Given the description of an element on the screen output the (x, y) to click on. 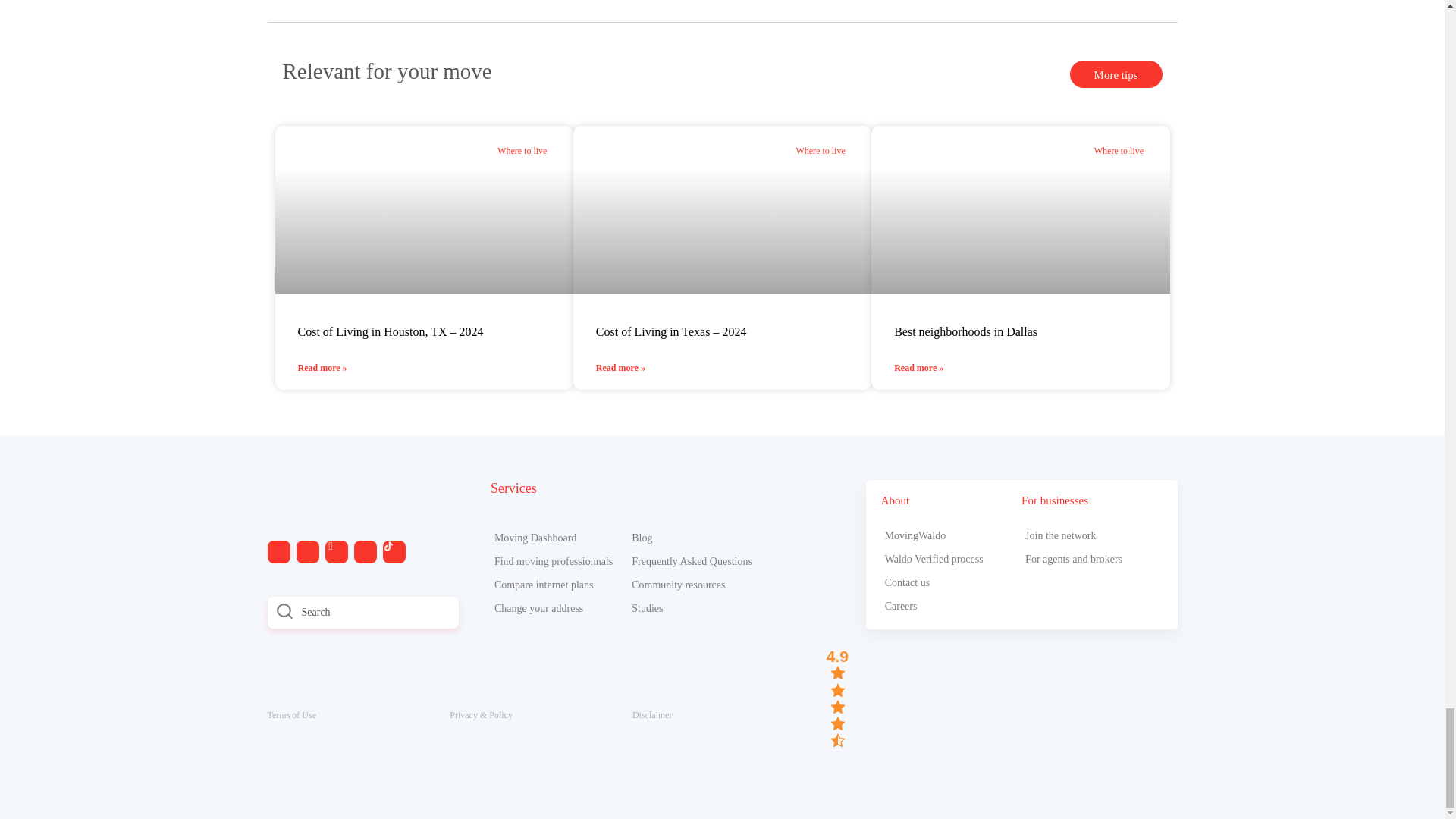
powered by Google (838, 760)
